Given the description of an element on the screen output the (x, y) to click on. 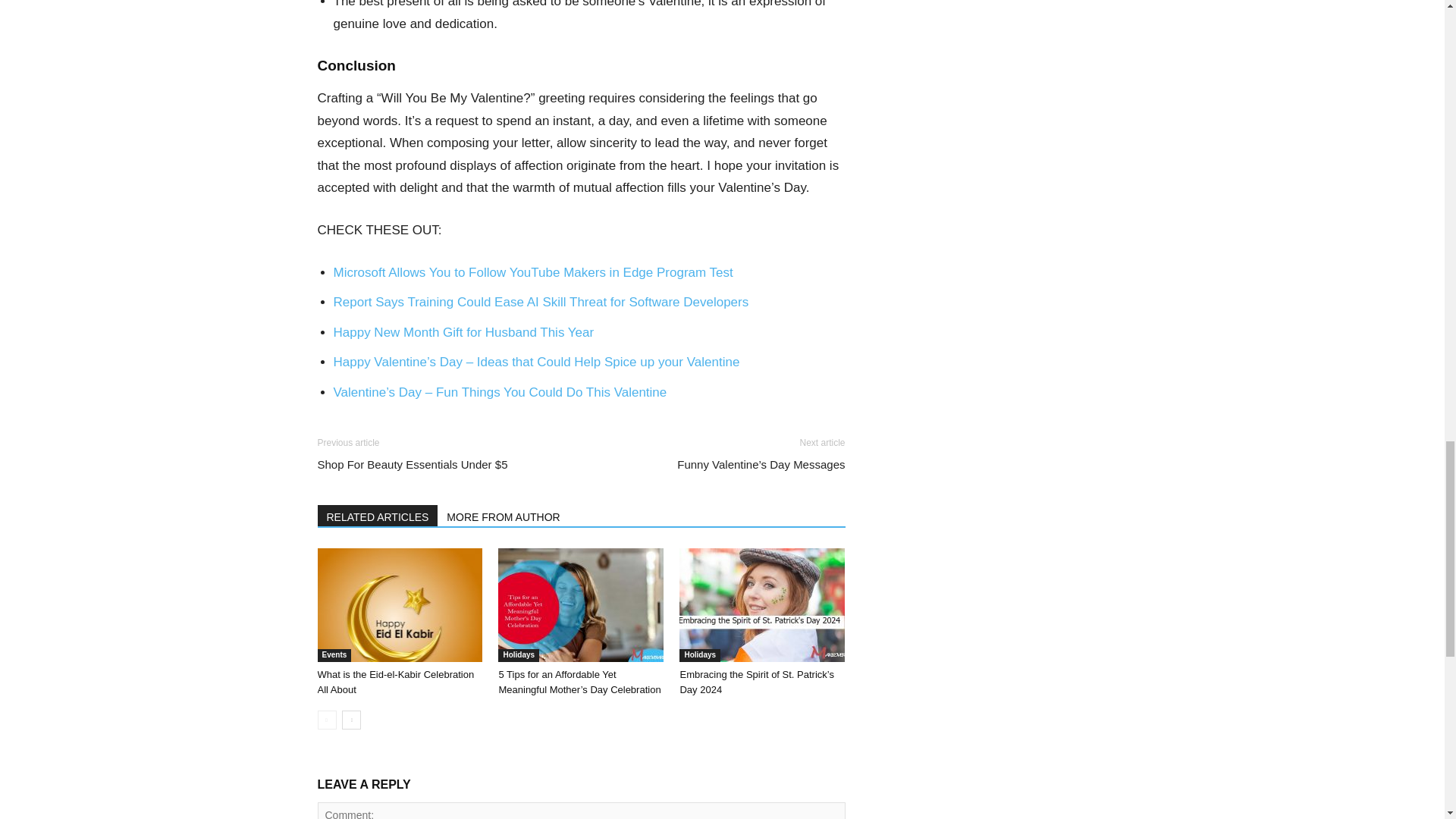
What is the Eid-el-Kabir Celebration All About (399, 604)
